Given the description of an element on the screen output the (x, y) to click on. 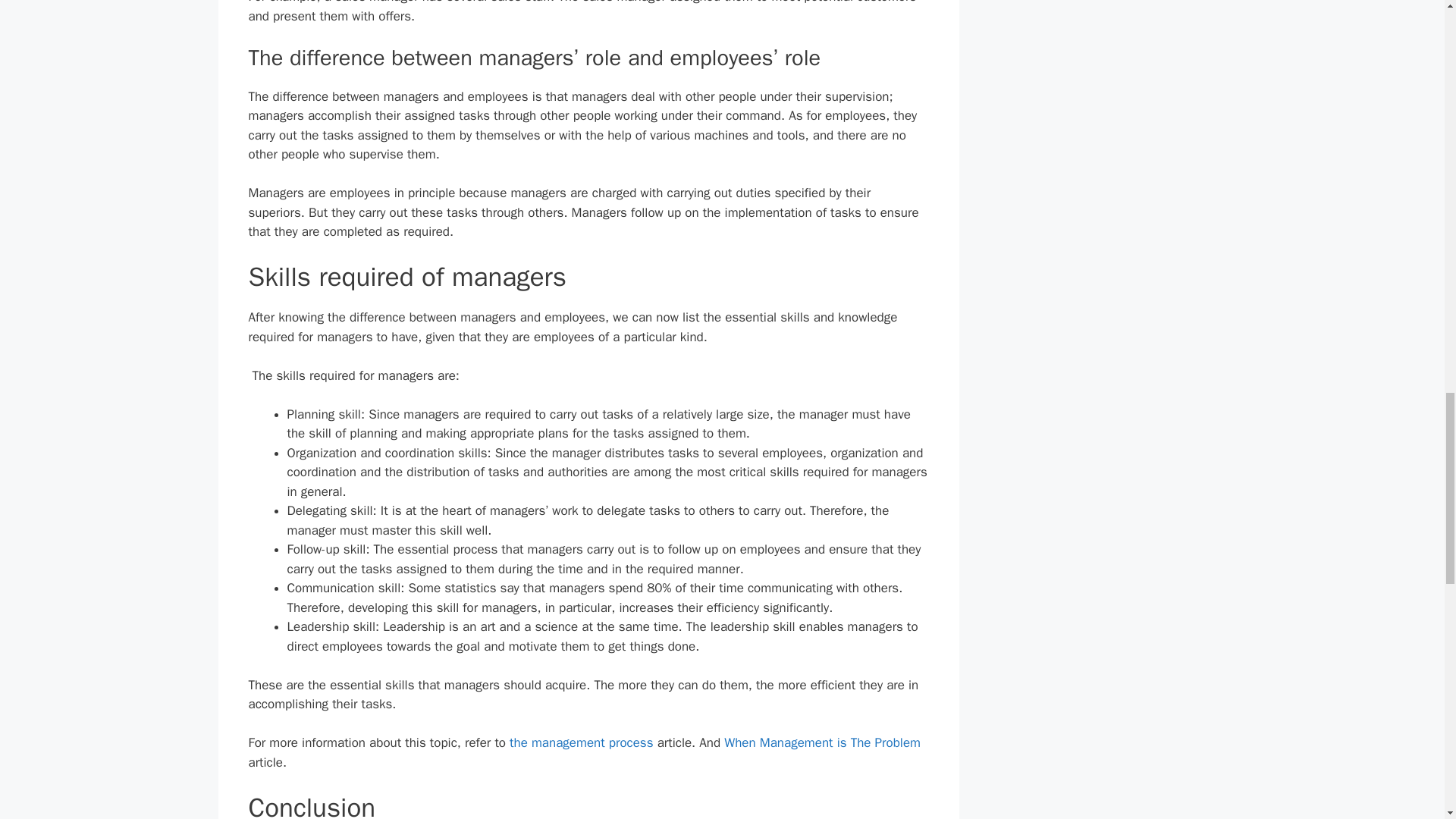
When Management is The Problem (821, 742)
the management process (580, 742)
